Given the description of an element on the screen output the (x, y) to click on. 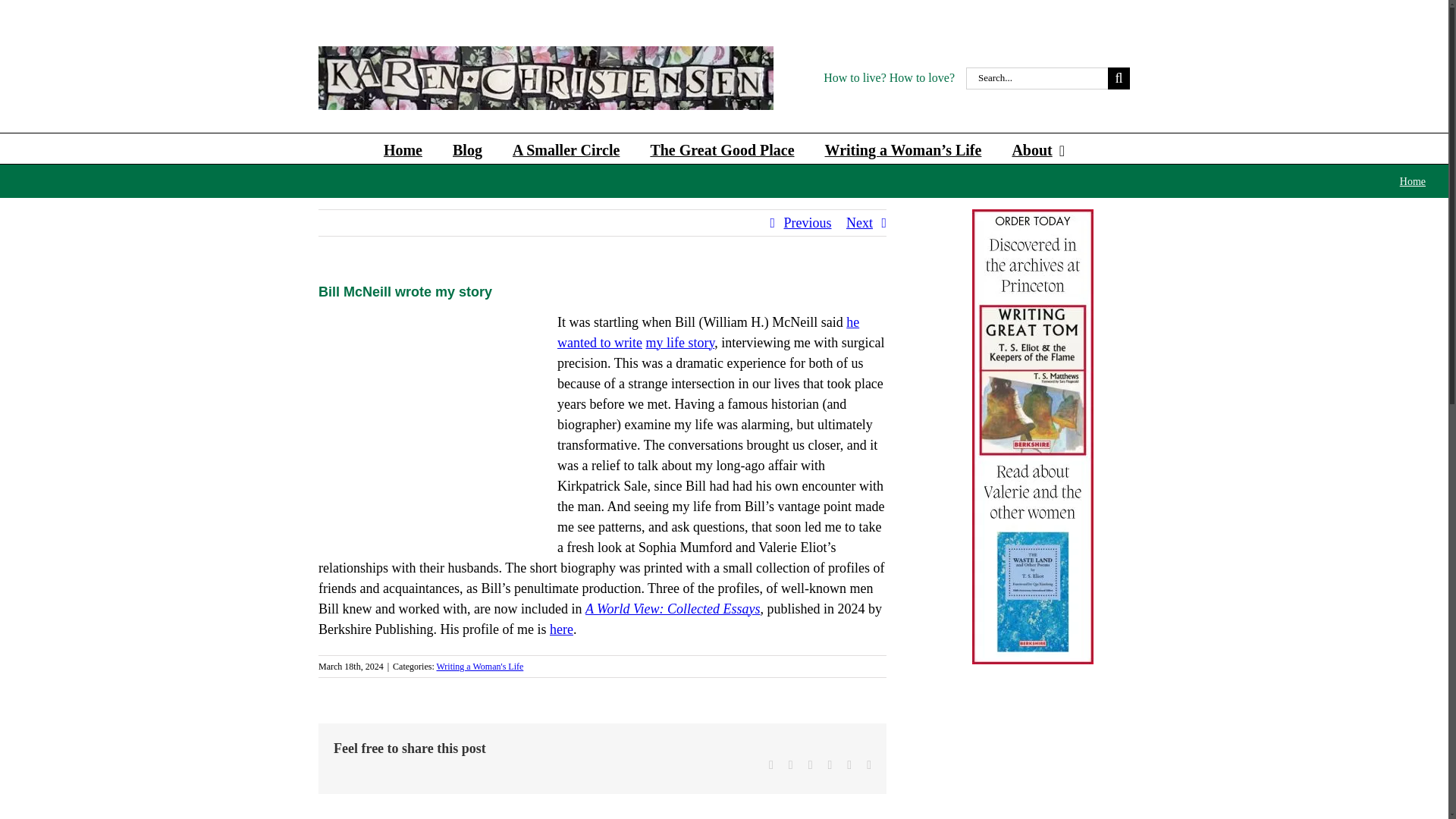
Home (403, 148)
The Great Good Place (721, 148)
he wanted to write (708, 332)
Home (1412, 181)
A Smaller Circle (566, 148)
About (1037, 148)
here (561, 629)
Next (858, 222)
A World View: Collected Essays (672, 608)
Writing a Woman's Life (480, 665)
